Given the description of an element on the screen output the (x, y) to click on. 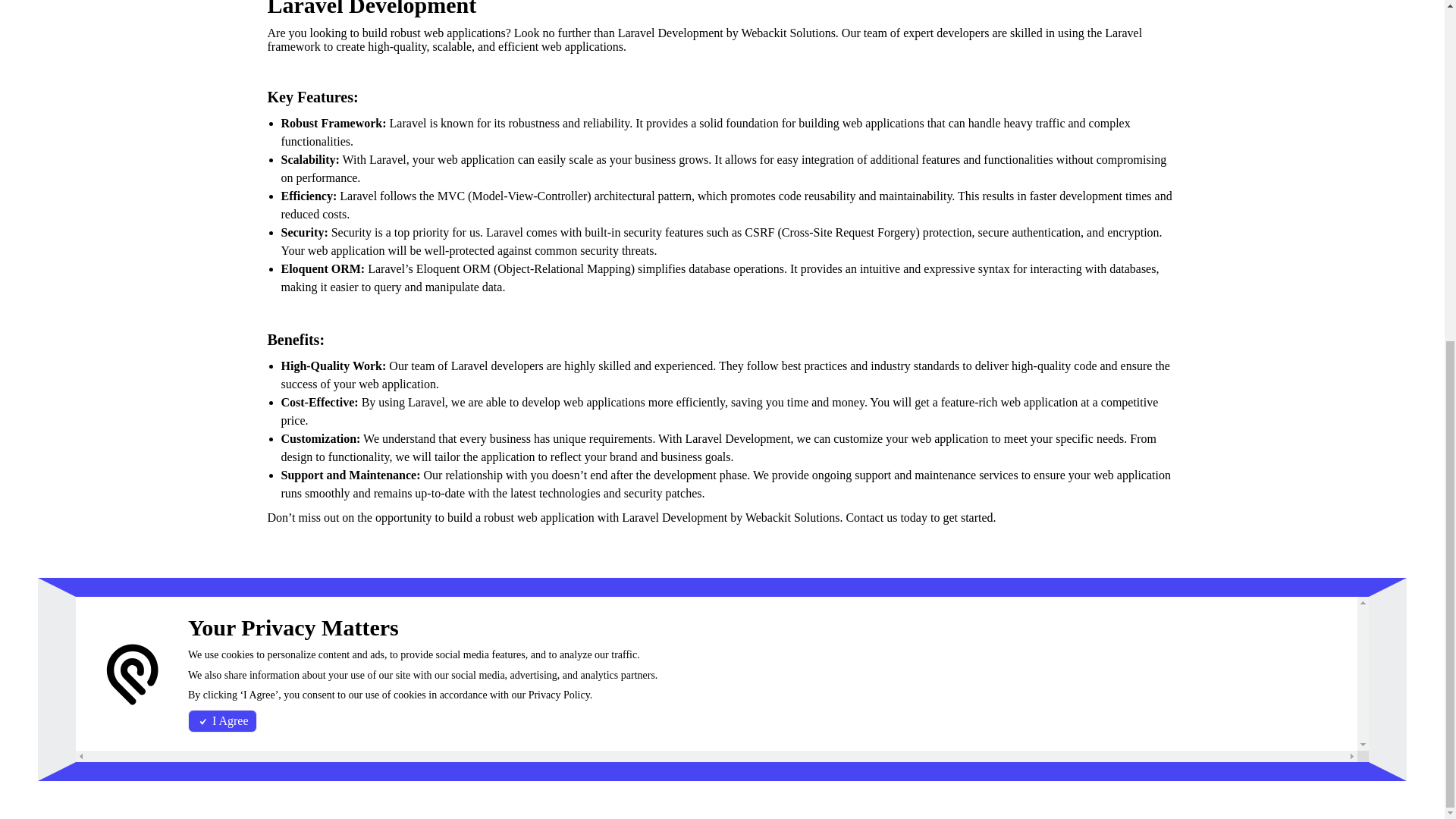
I Agree (222, 142)
information is secured against bots. (1108, 701)
Scalable Ruby on Rails Cloud Hosting (373, 612)
information is secured against bots. (1123, 719)
ES6 Syntax and Features (1103, 612)
Trademark (289, 734)
